Given the description of an element on the screen output the (x, y) to click on. 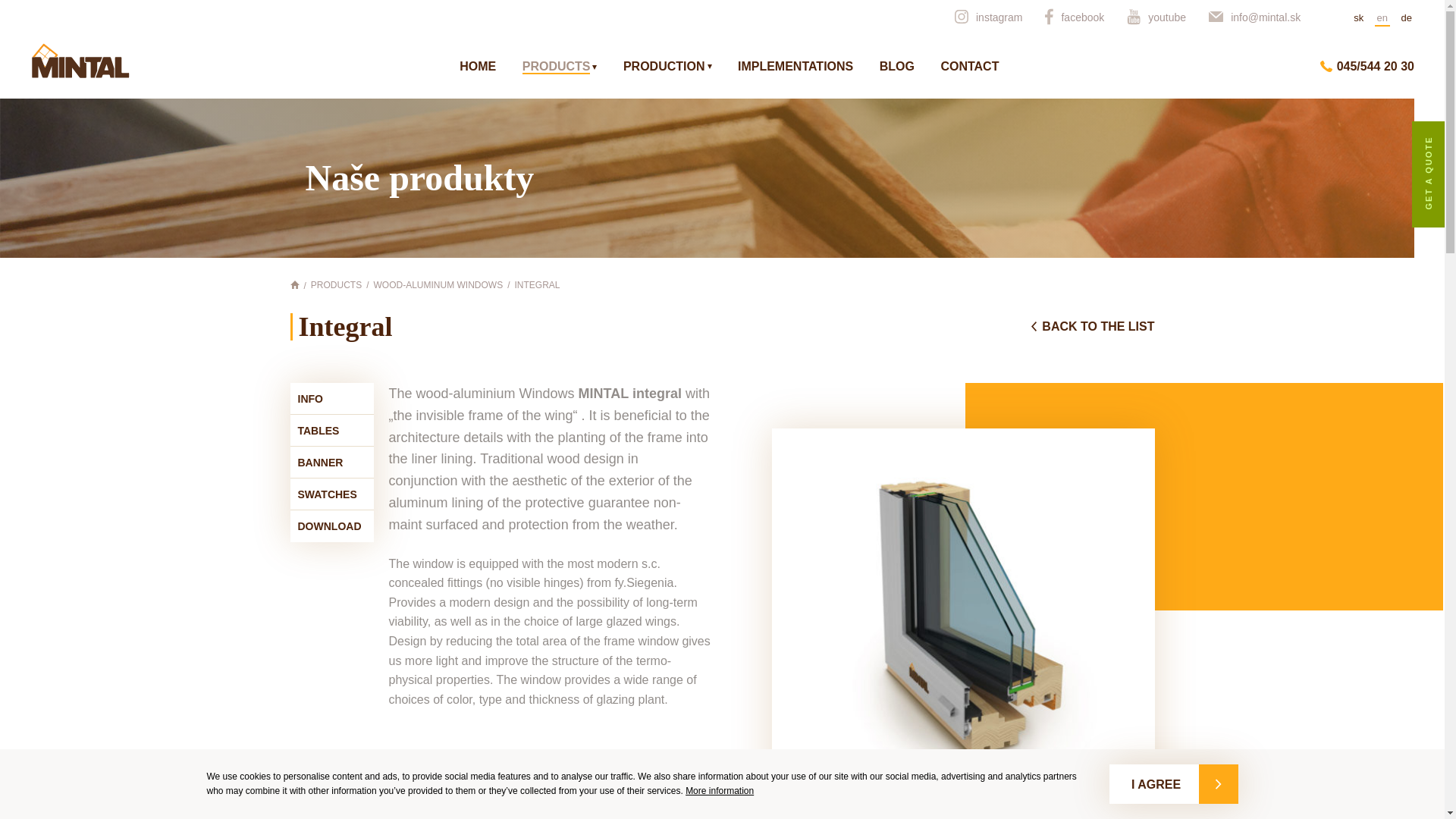
instagram (988, 17)
PRODUCTS (559, 67)
IMPLEMENTATIONS (795, 66)
More information (719, 790)
youtube (1156, 17)
CONTACT (969, 66)
PRODUCTION (667, 66)
de (1406, 18)
facebook (1074, 17)
I AGREE (1174, 783)
sk (1358, 18)
